Given the description of an element on the screen output the (x, y) to click on. 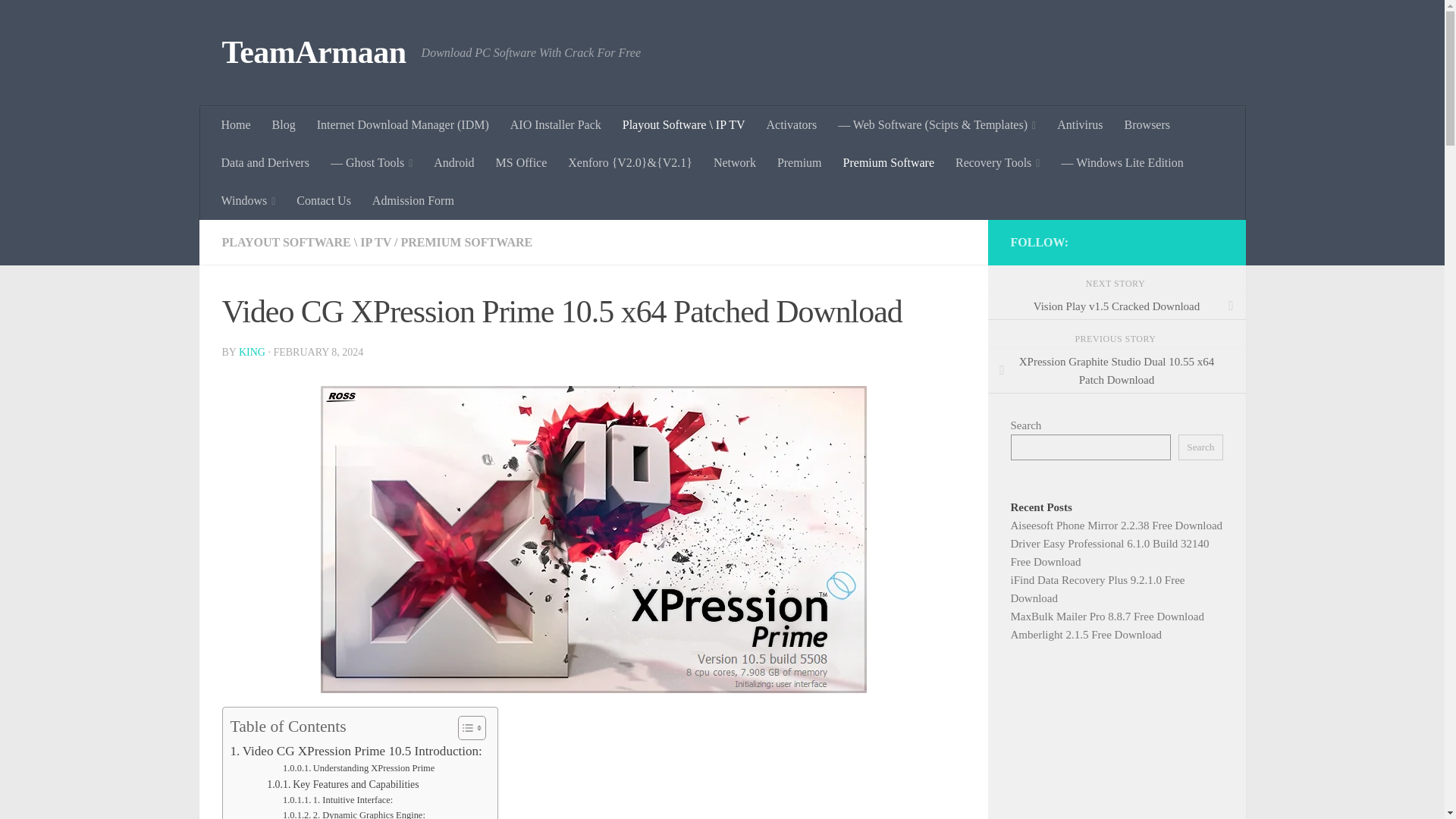
2. Dynamic Graphics Engine: (353, 813)
1. Intuitive Interface: (337, 800)
Key Features and Capabilities (342, 784)
Video CG XPression Prime 10.5 Introduction: (355, 751)
Understanding XPression Prime (357, 768)
Skip to content (59, 20)
TeamArmaan (313, 53)
Posts by King (251, 351)
